Given the description of an element on the screen output the (x, y) to click on. 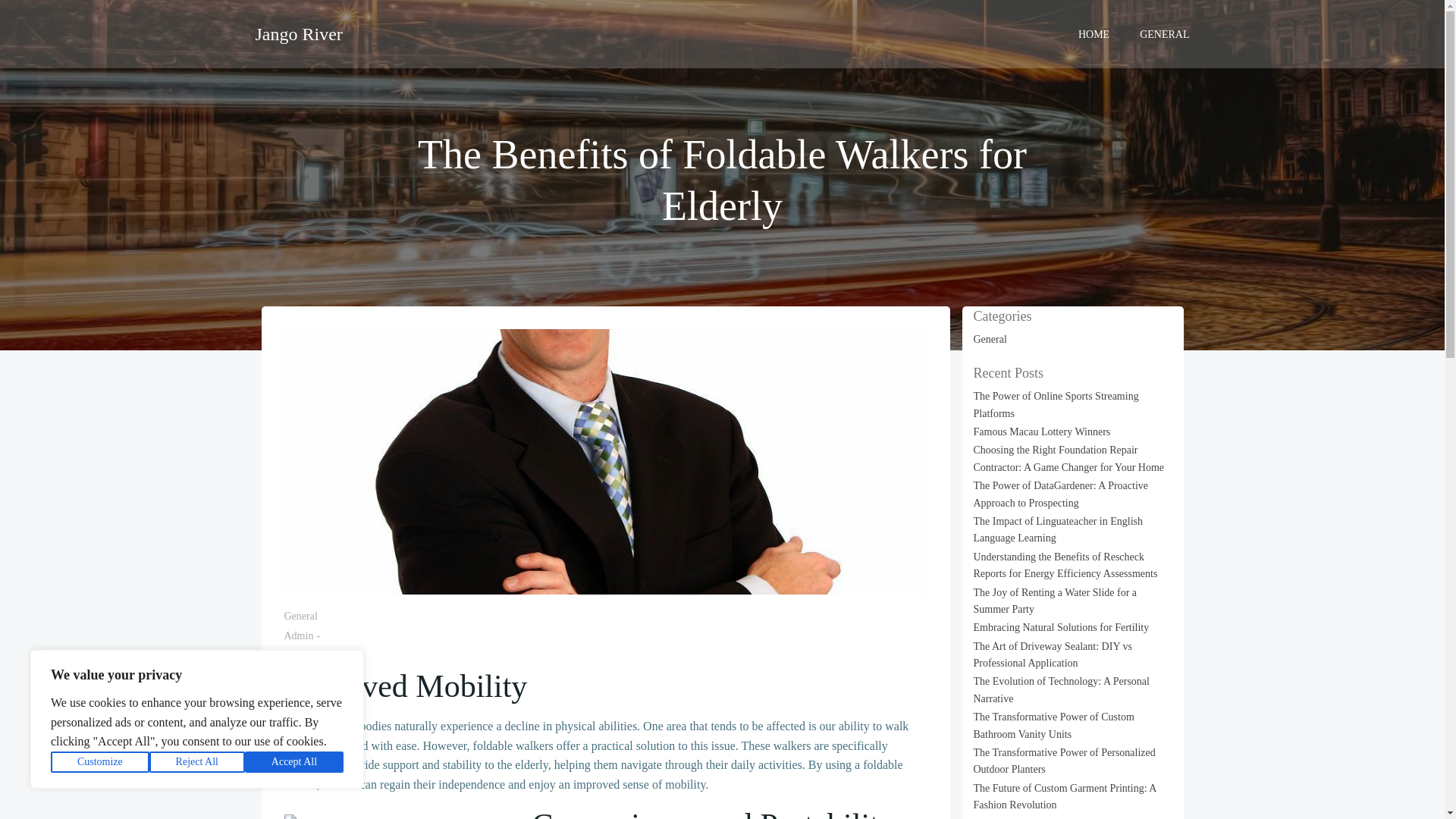
The Power of Online Sports Streaming Platforms (1056, 404)
Accept All (293, 762)
The Impact of Linguateacher in English Language Learning (1058, 529)
Admin (298, 635)
General (300, 616)
Jango River (298, 33)
HOME (1093, 33)
General (990, 338)
Reject All (196, 762)
